Given the description of an element on the screen output the (x, y) to click on. 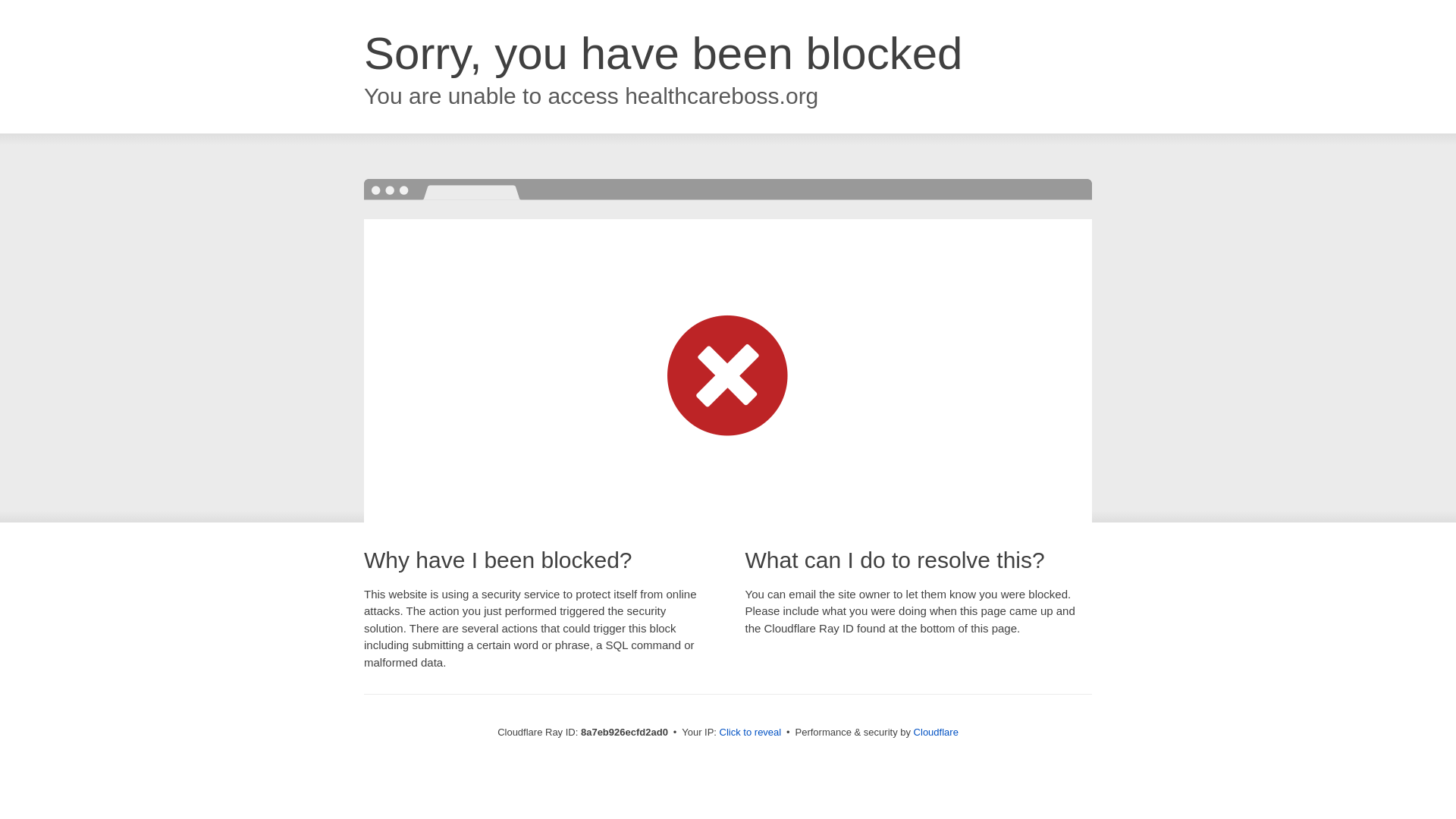
Click to reveal (750, 732)
Cloudflare (936, 731)
